Given the description of an element on the screen output the (x, y) to click on. 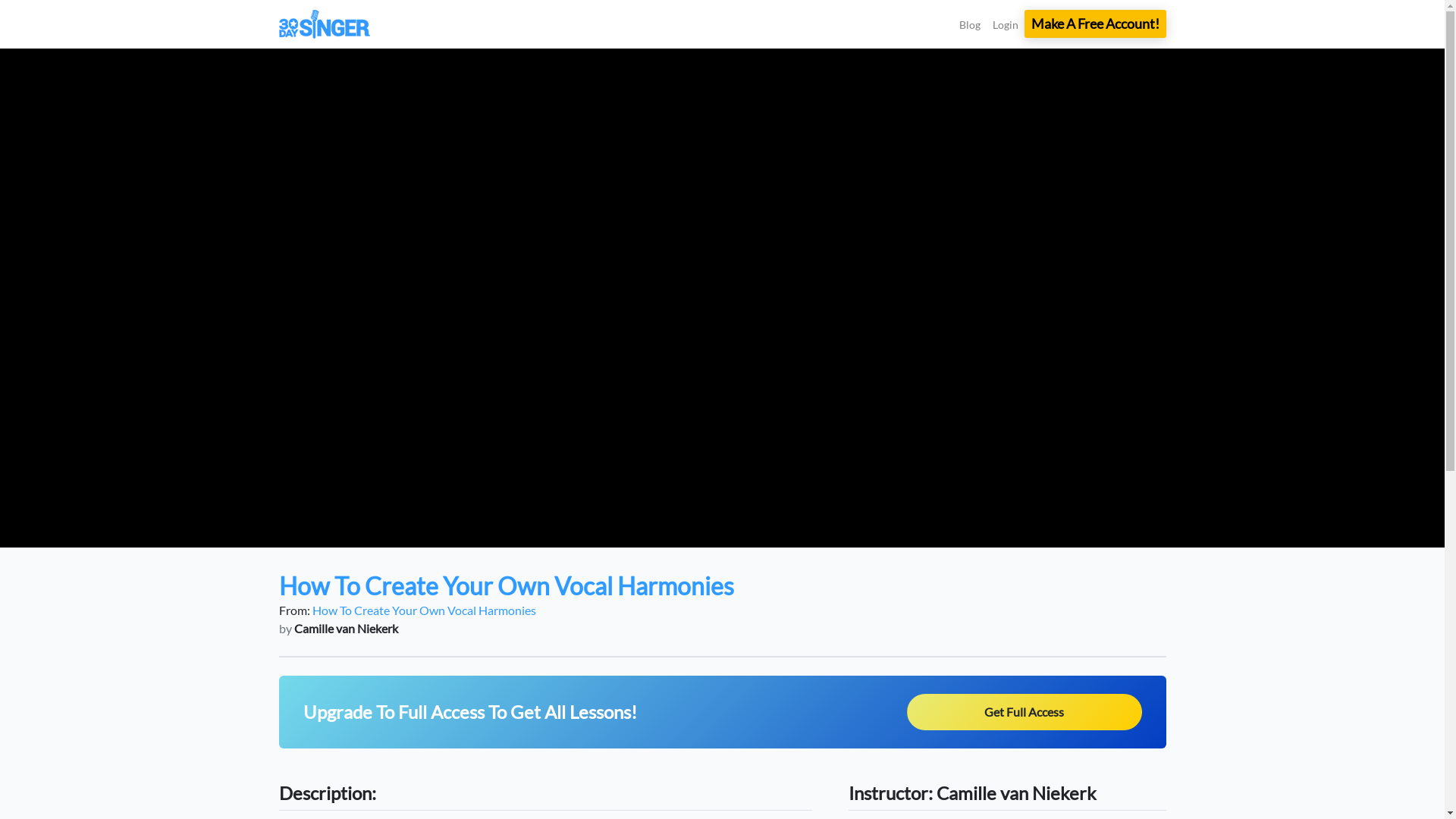
Get Full Access Element type: text (1024, 711)
Login Element type: text (1004, 24)
Make A Free Account! Element type: text (1094, 23)
Blog Element type: text (968, 24)
How To Create Your Own Vocal Harmonies Element type: text (424, 609)
